Given the description of an element on the screen output the (x, y) to click on. 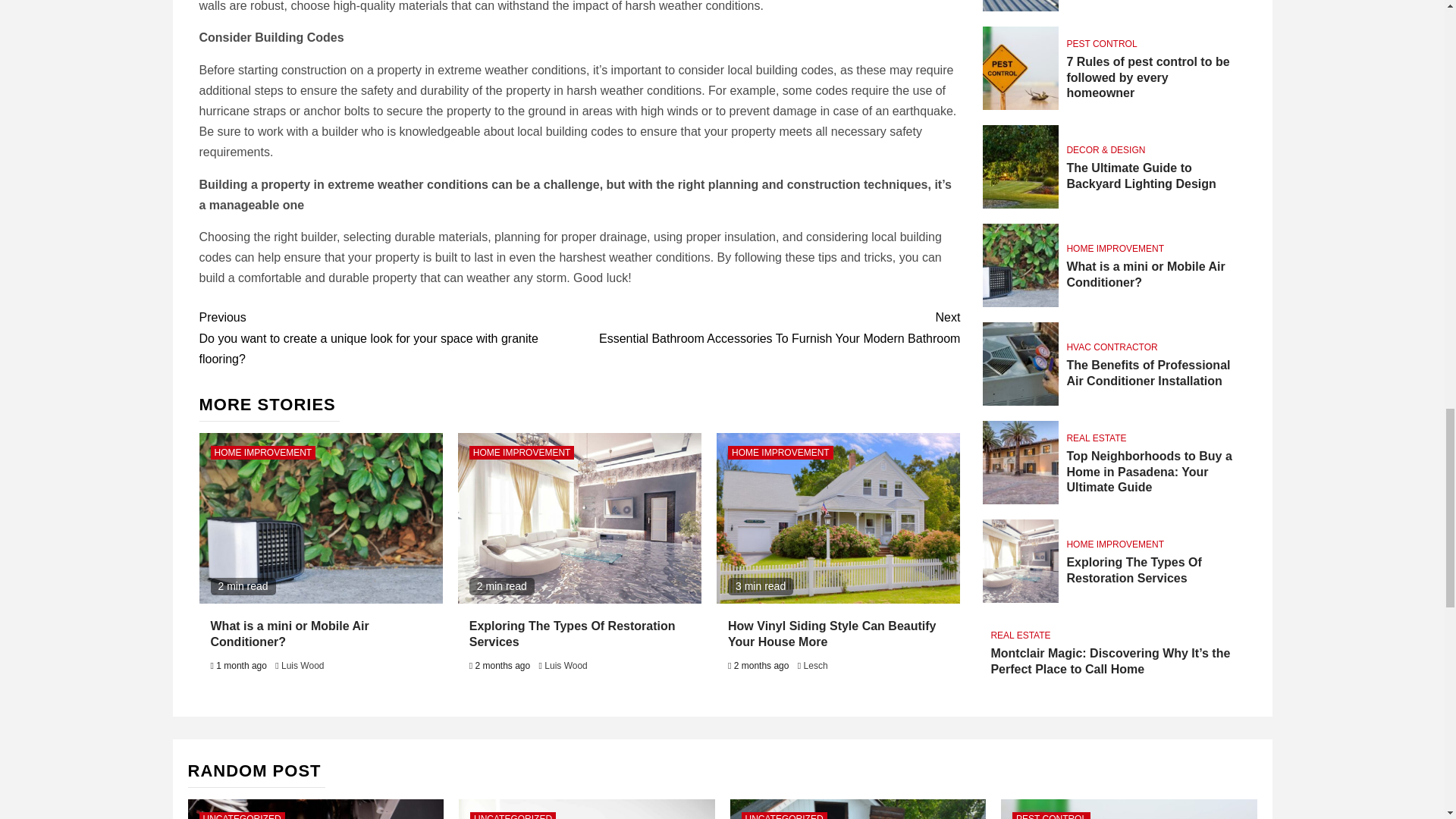
Lesch (815, 665)
Exploring The Types Of Restoration Services (571, 633)
Luis Wood (302, 665)
HOME IMPROVEMENT (780, 452)
HOME IMPROVEMENT (521, 452)
HOME IMPROVEMENT (263, 452)
What is a mini or Mobile Air Conditioner? (290, 633)
How Vinyl Siding Style Can Beautify Your House More (832, 633)
